Given the description of an element on the screen output the (x, y) to click on. 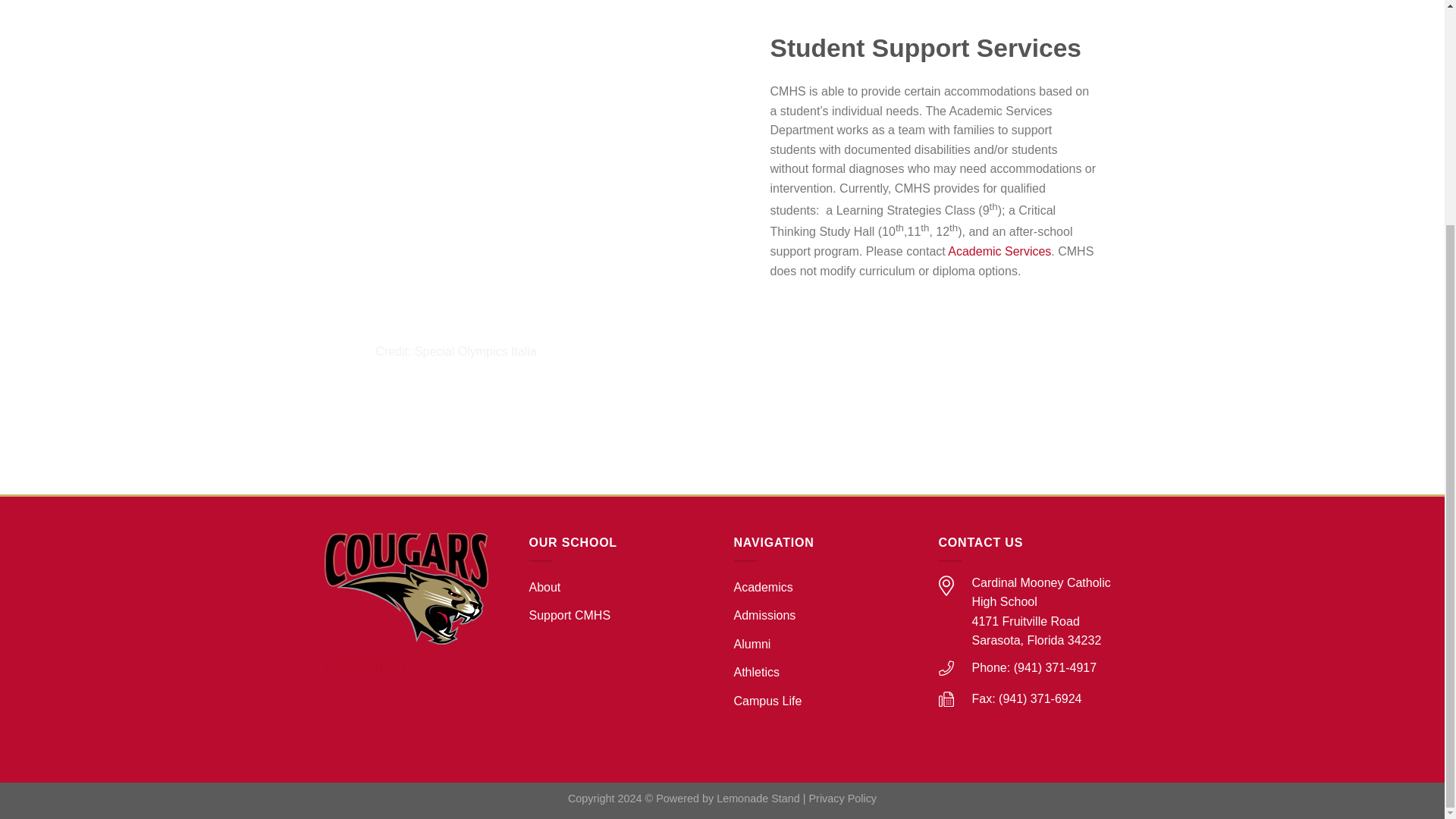
Follow on Facebook (337, 668)
Follow on YouTube (392, 668)
Follow on Instagram (364, 668)
